Given the description of an element on the screen output the (x, y) to click on. 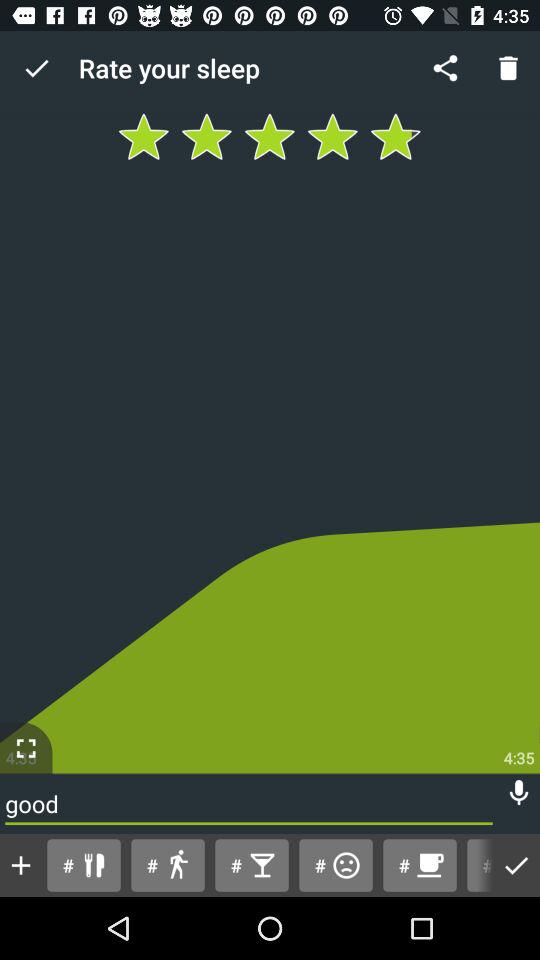
choose icon next to # icon (21, 865)
